Given the description of an element on the screen output the (x, y) to click on. 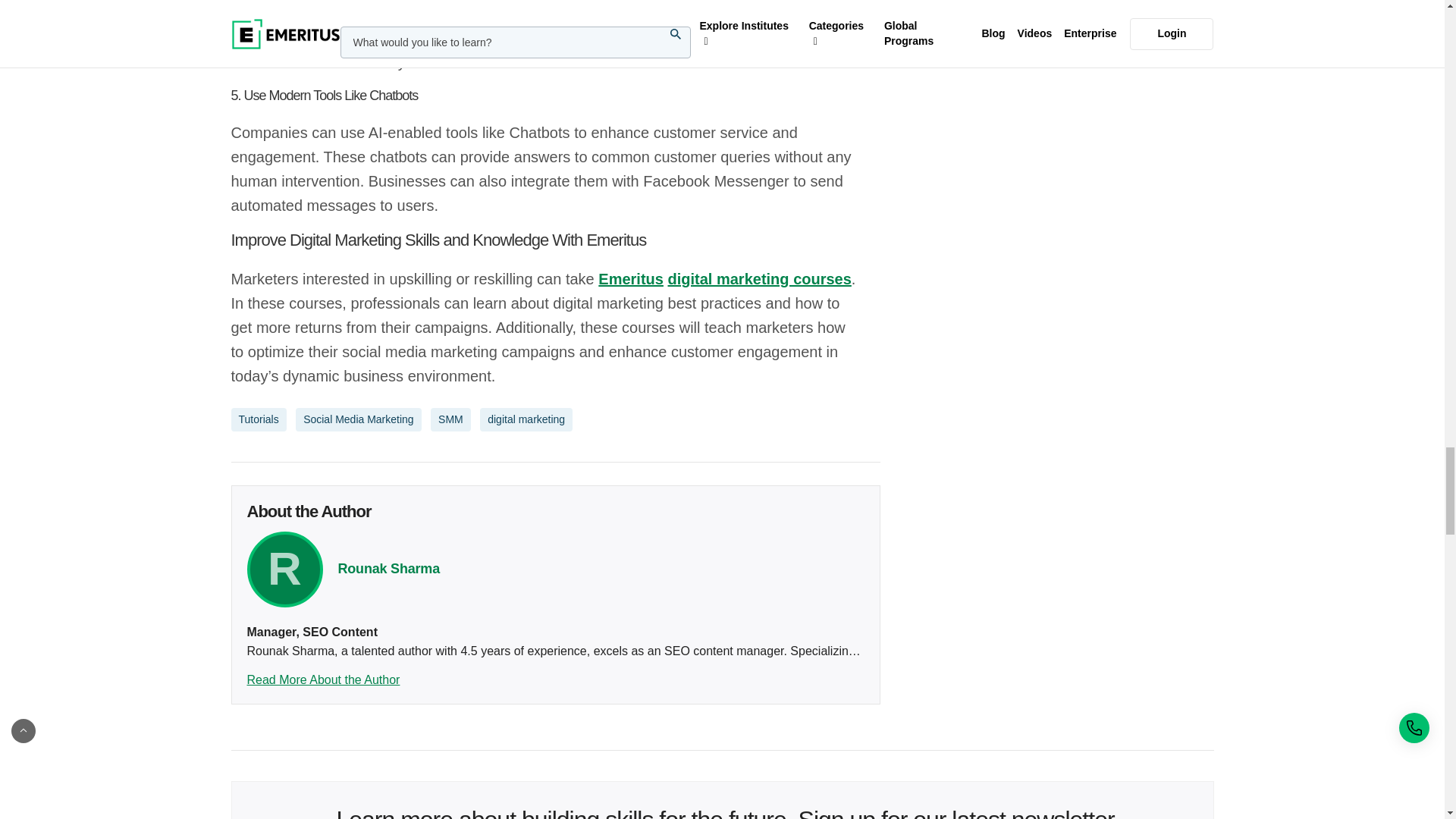
Improve Digital Marketing Skills and Knowledge With Emeritus (543, 240)
